Given the description of an element on the screen output the (x, y) to click on. 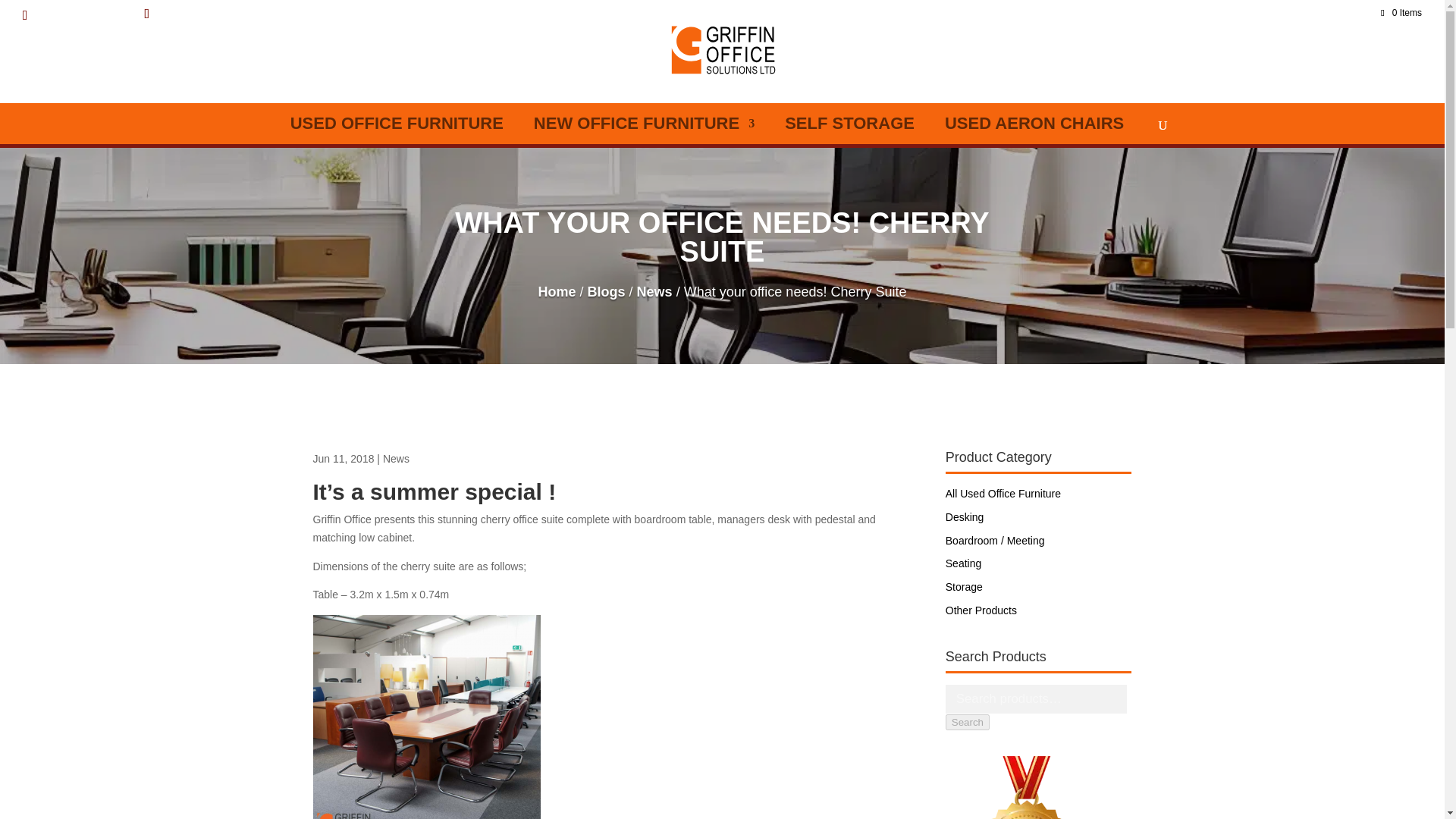
About (1114, 15)
SELF STORAGE (849, 122)
News (395, 458)
Account (1343, 15)
Home (557, 291)
0 Items (1400, 12)
Reviews (1170, 15)
USED OFFICE FURNITURE (396, 122)
USED AERON CHAIRS (1034, 122)
Contact (1282, 15)
NEW OFFICE FURNITURE (644, 122)
Blogs (1227, 15)
Blogs (607, 291)
News (654, 291)
